Given the description of an element on the screen output the (x, y) to click on. 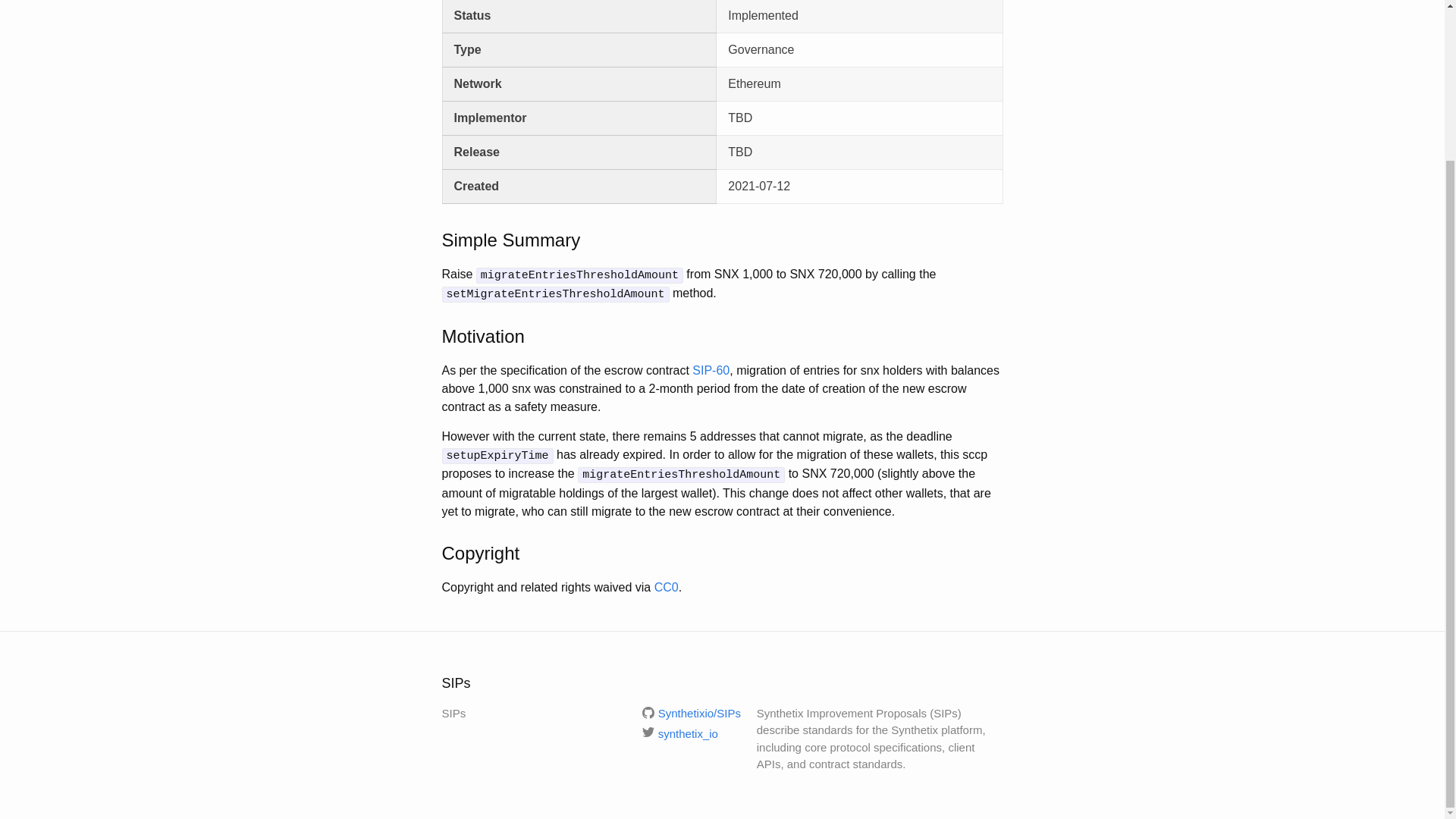
SIP-60 (711, 369)
CC0 (665, 586)
